Given the description of an element on the screen output the (x, y) to click on. 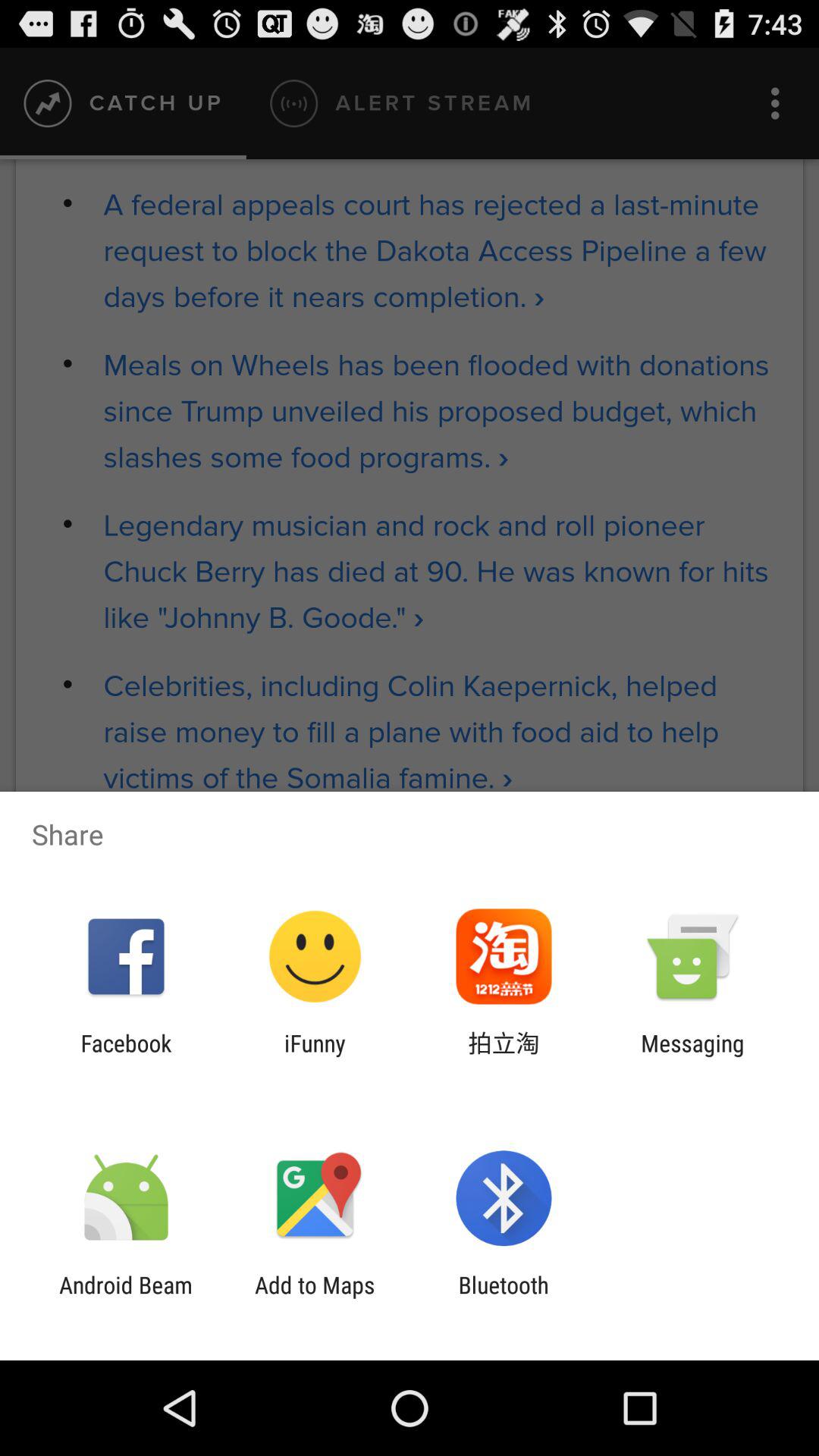
open facebook (125, 1056)
